Given the description of an element on the screen output the (x, y) to click on. 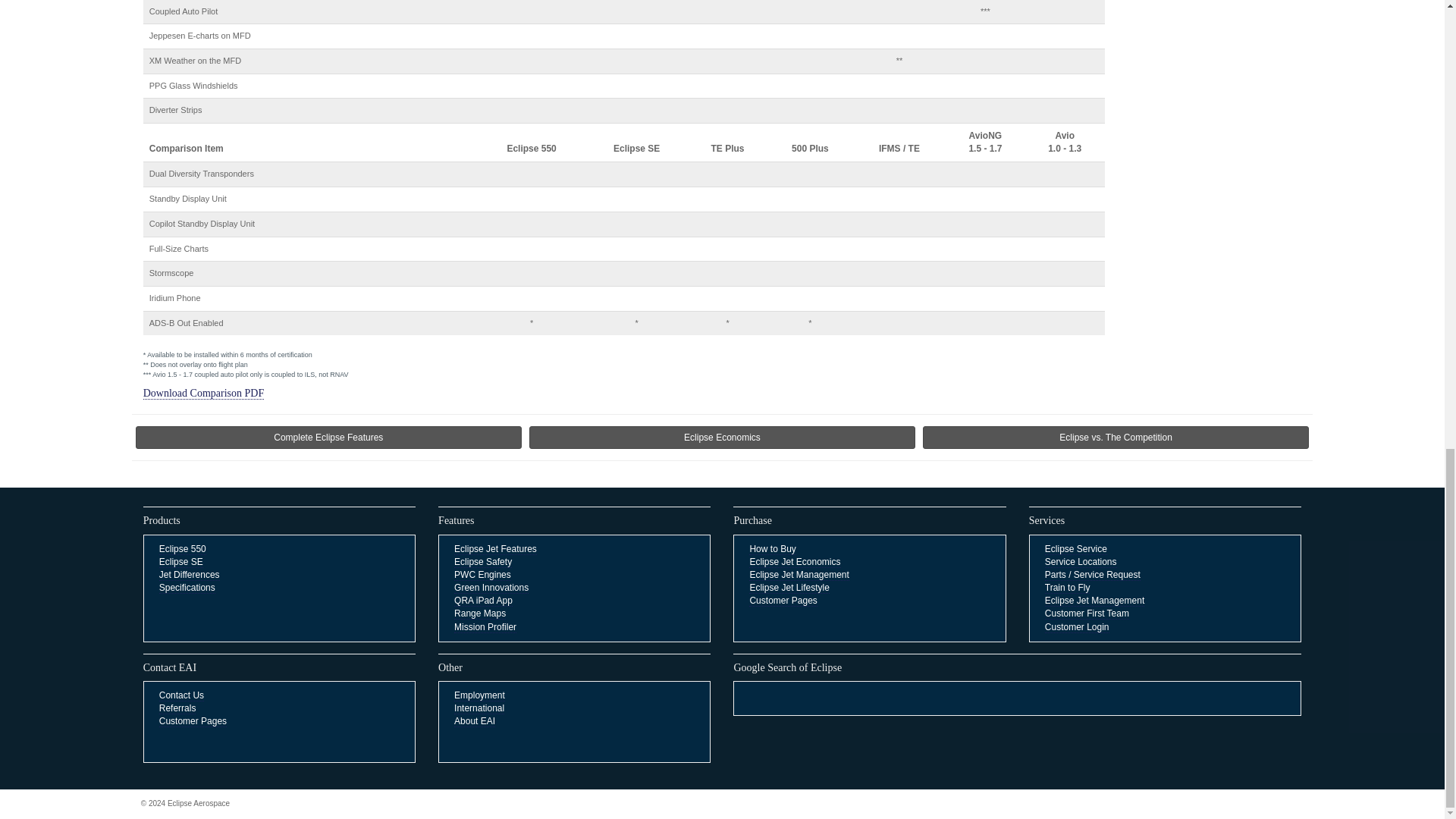
Download Comparison PDF (202, 393)
